Given the description of an element on the screen output the (x, y) to click on. 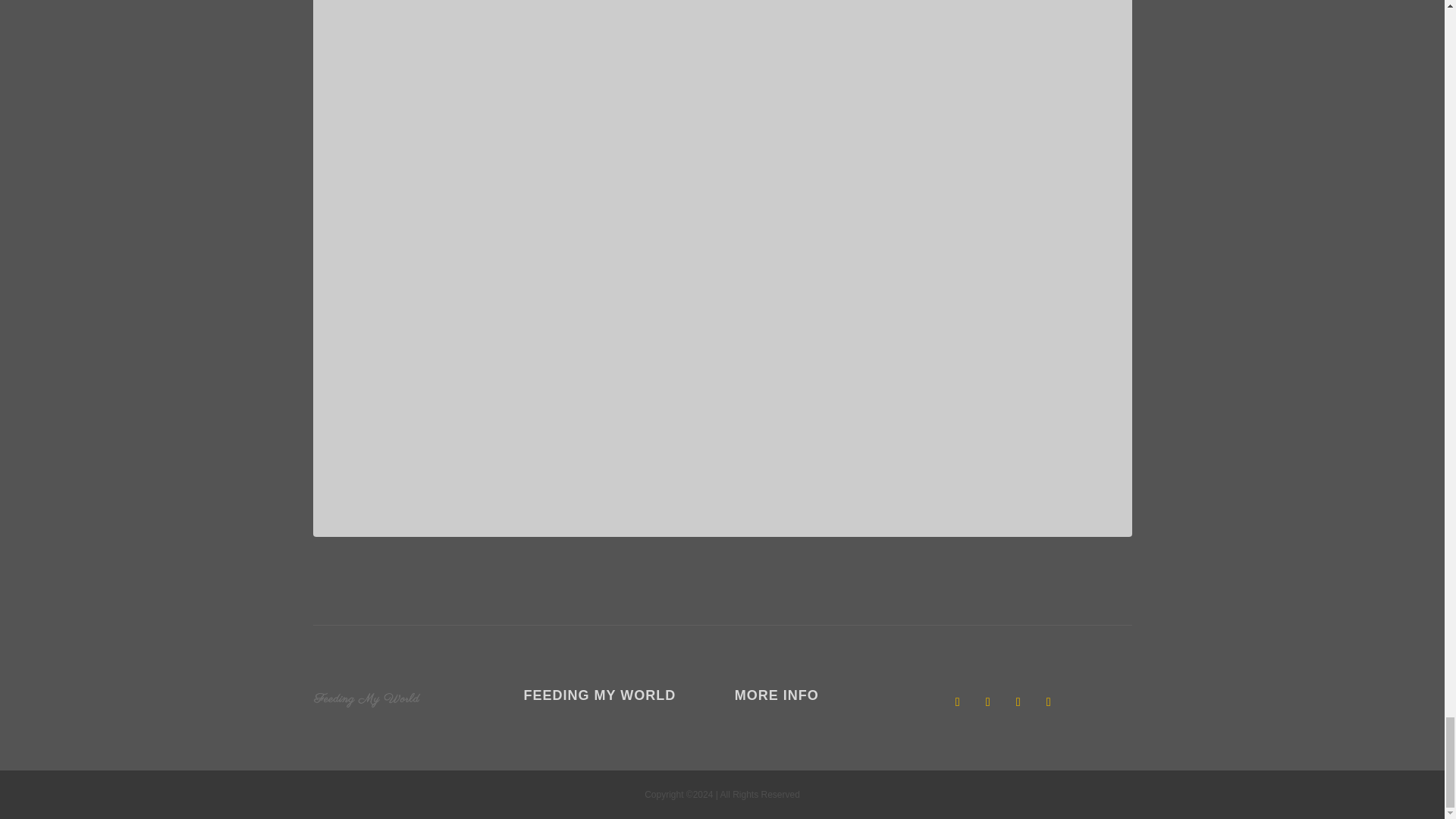
Follow on Twitter (987, 702)
Follow on LinkedIn (1018, 702)
Follow on Facebook (956, 702)
Follow on Instagram (1048, 702)
